Given the description of an element on the screen output the (x, y) to click on. 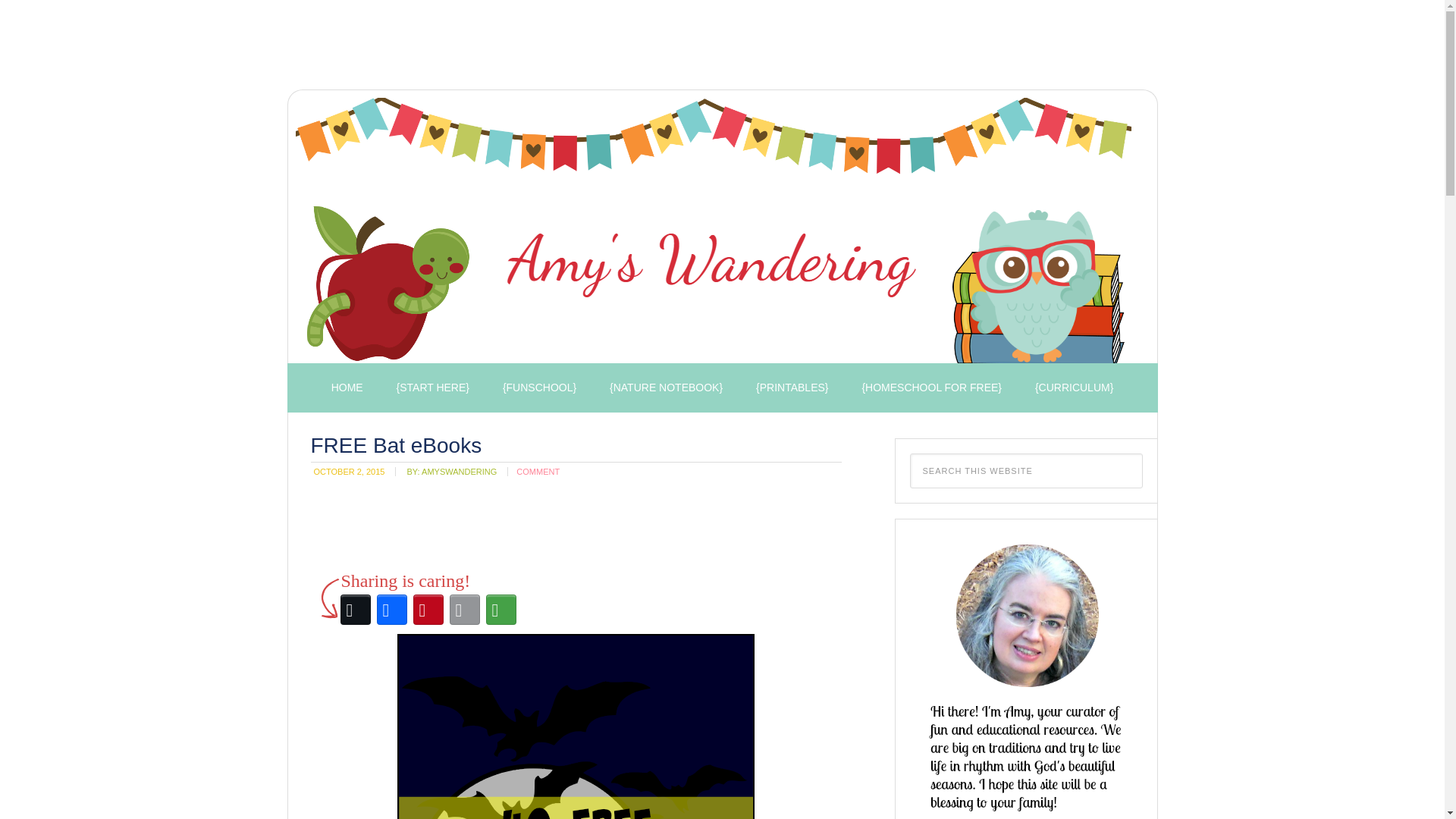
Email This (463, 609)
More Options (499, 609)
HOME (346, 387)
COMMENT (537, 470)
Pinterest (427, 609)
Facebook (390, 609)
Advertisement (555, 49)
